Given the description of an element on the screen output the (x, y) to click on. 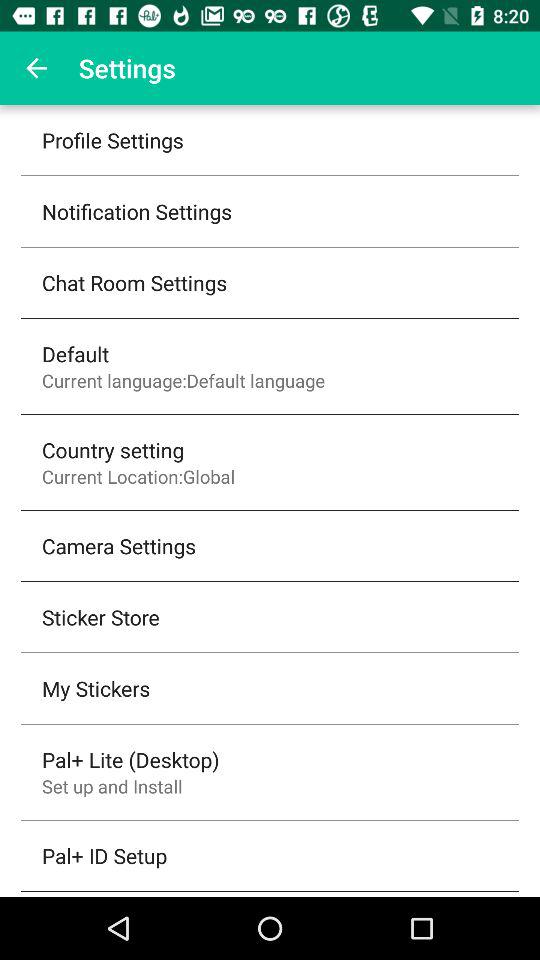
scroll to notification settings (137, 211)
